Given the description of an element on the screen output the (x, y) to click on. 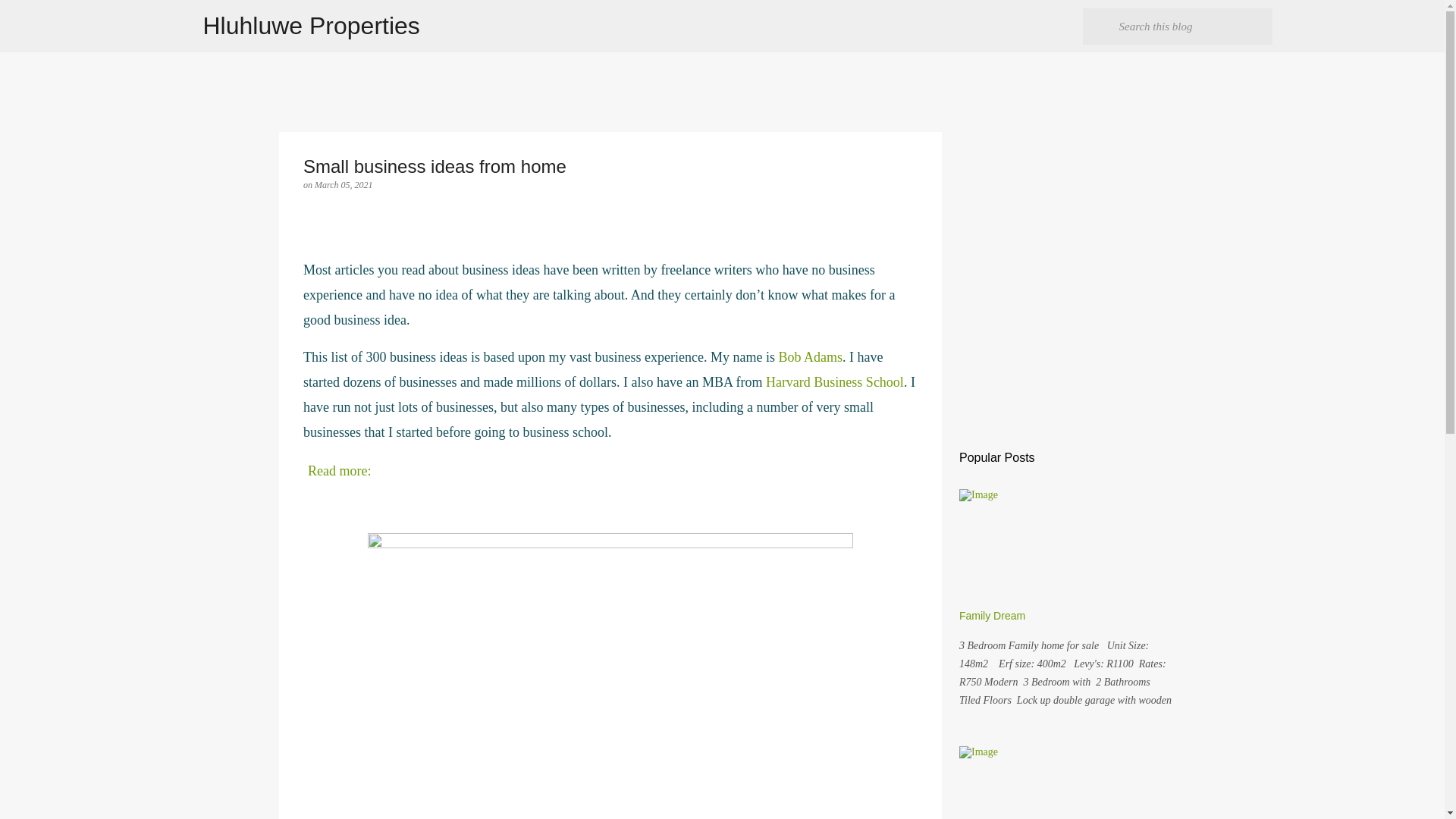
permanent link (343, 184)
Bob Adams (810, 356)
March 05, 2021 (343, 184)
Family Dream (992, 615)
Hluhluwe Properties (311, 25)
Harvard Business School (834, 381)
Read more: (339, 470)
